Given the description of an element on the screen output the (x, y) to click on. 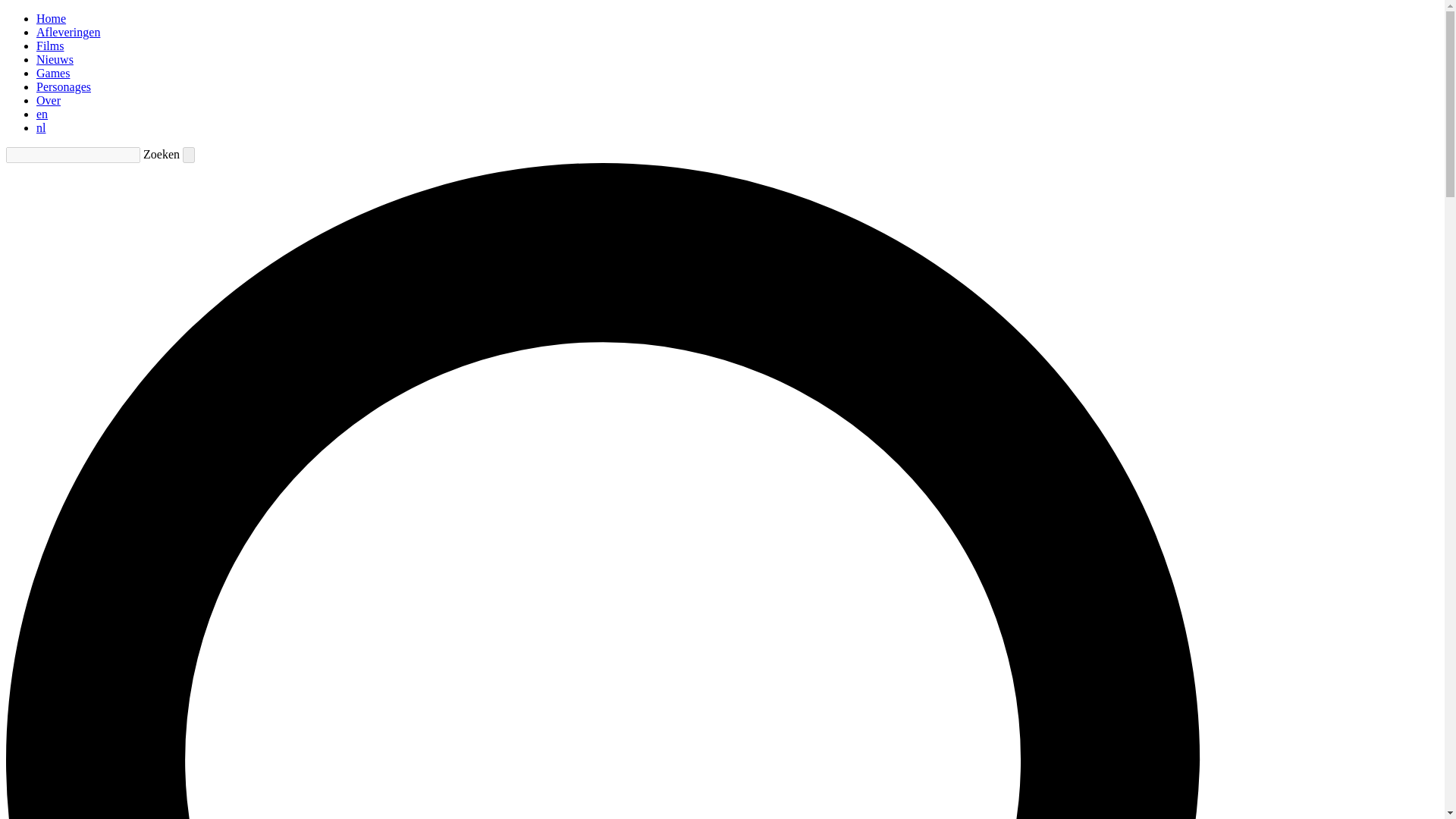
nl (40, 127)
Home (50, 18)
Over (48, 100)
Afleveringen (68, 31)
en (42, 113)
Games (52, 72)
Personages (63, 86)
Films (50, 45)
Nieuws (55, 59)
